Given the description of an element on the screen output the (x, y) to click on. 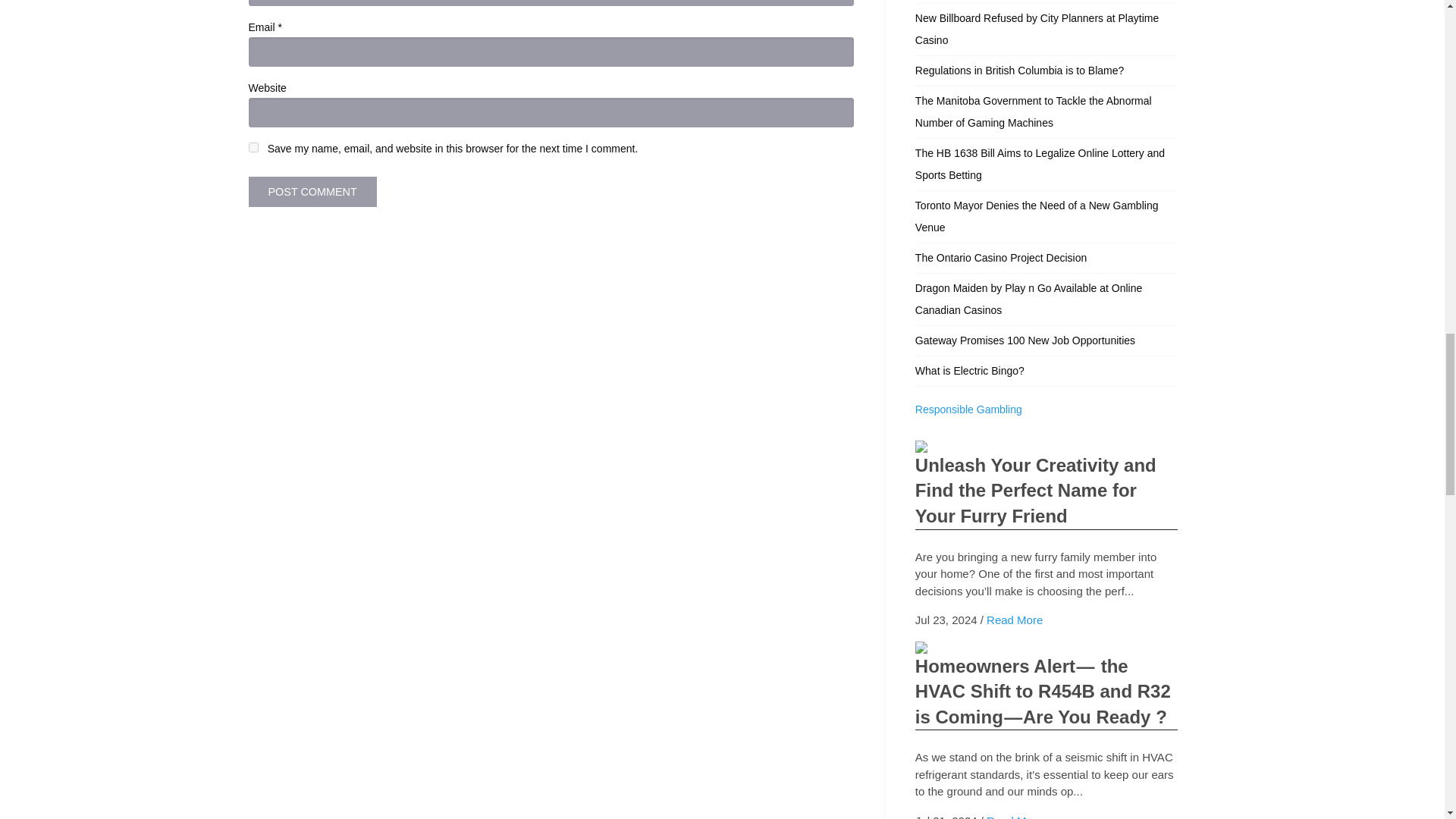
Post Comment (312, 191)
yes (253, 147)
